Given the description of an element on the screen output the (x, y) to click on. 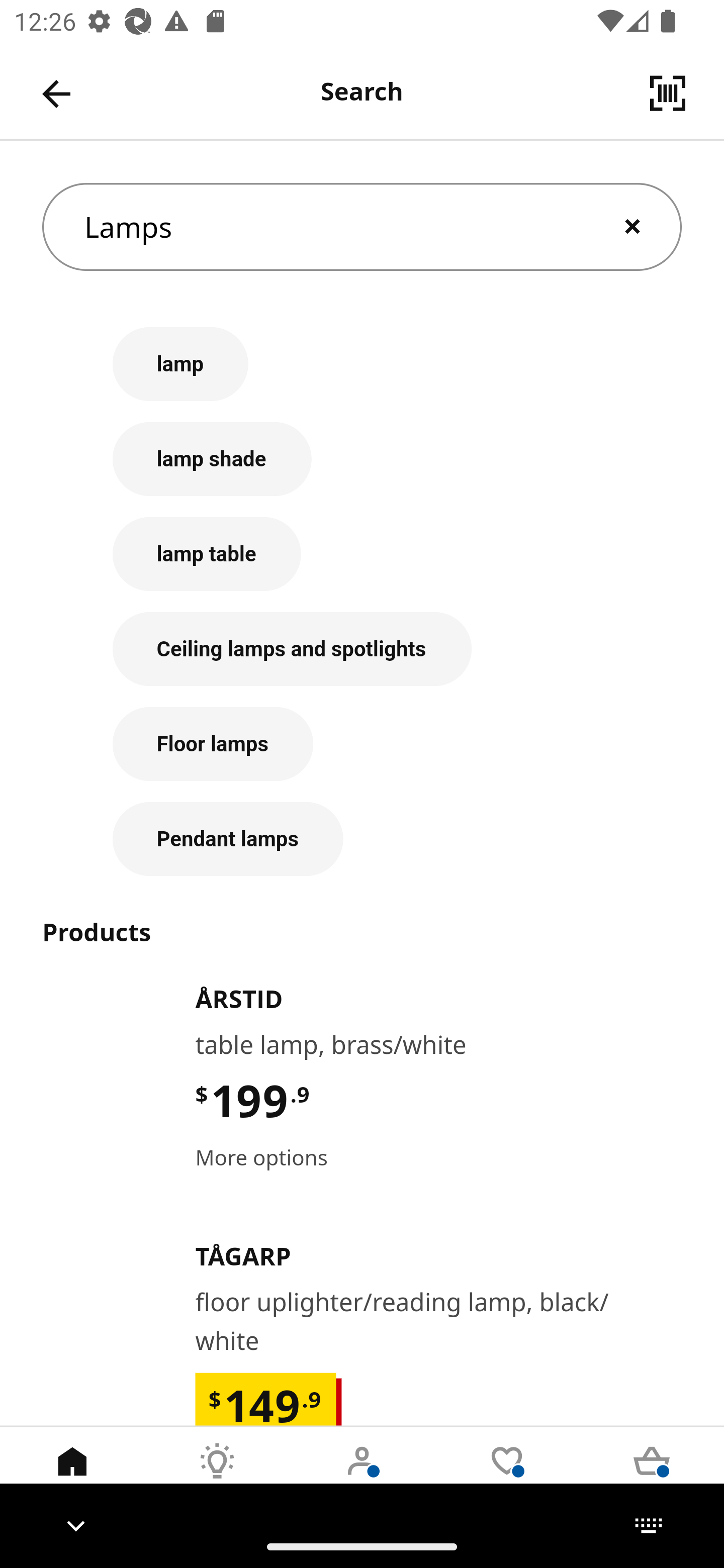
Lamps (361, 227)
Home
Tab 1 of 5 (72, 1476)
Inspirations
Tab 2 of 5 (216, 1476)
User
Tab 3 of 5 (361, 1476)
Wishlist
Tab 4 of 5 (506, 1476)
Cart
Tab 5 of 5 (651, 1476)
